Given the description of an element on the screen output the (x, y) to click on. 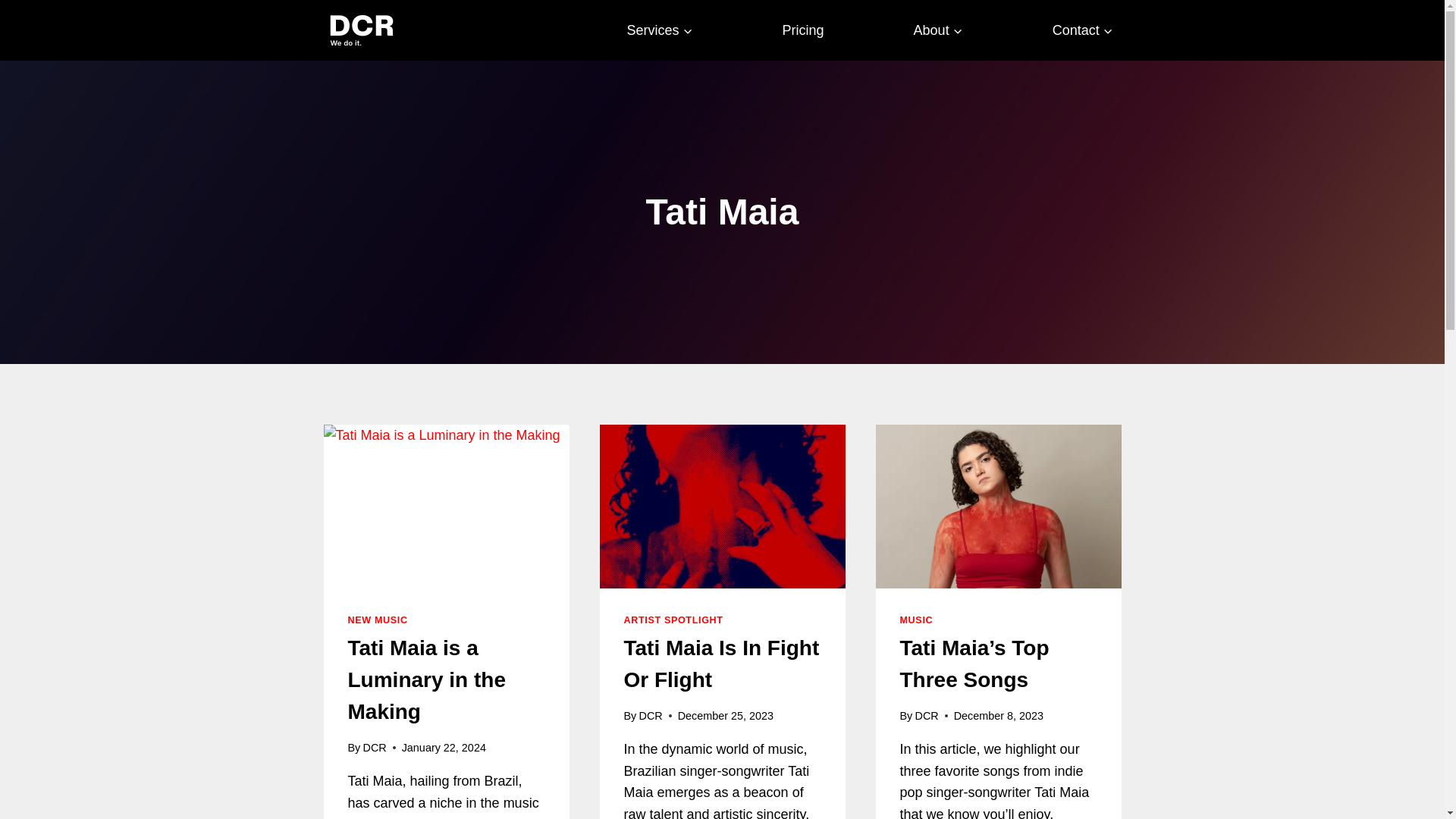
DCR (373, 747)
DCR (925, 715)
ARTIST SPOTLIGHT (672, 620)
About (938, 30)
Services (659, 30)
NEW MUSIC (377, 620)
Contact (1082, 30)
Tati Maia is a Luminary in the Making (426, 679)
Pricing (803, 30)
MUSIC (916, 620)
DCR (650, 715)
Tati Maia Is In Fight Or Flight (720, 663)
